Given the description of an element on the screen output the (x, y) to click on. 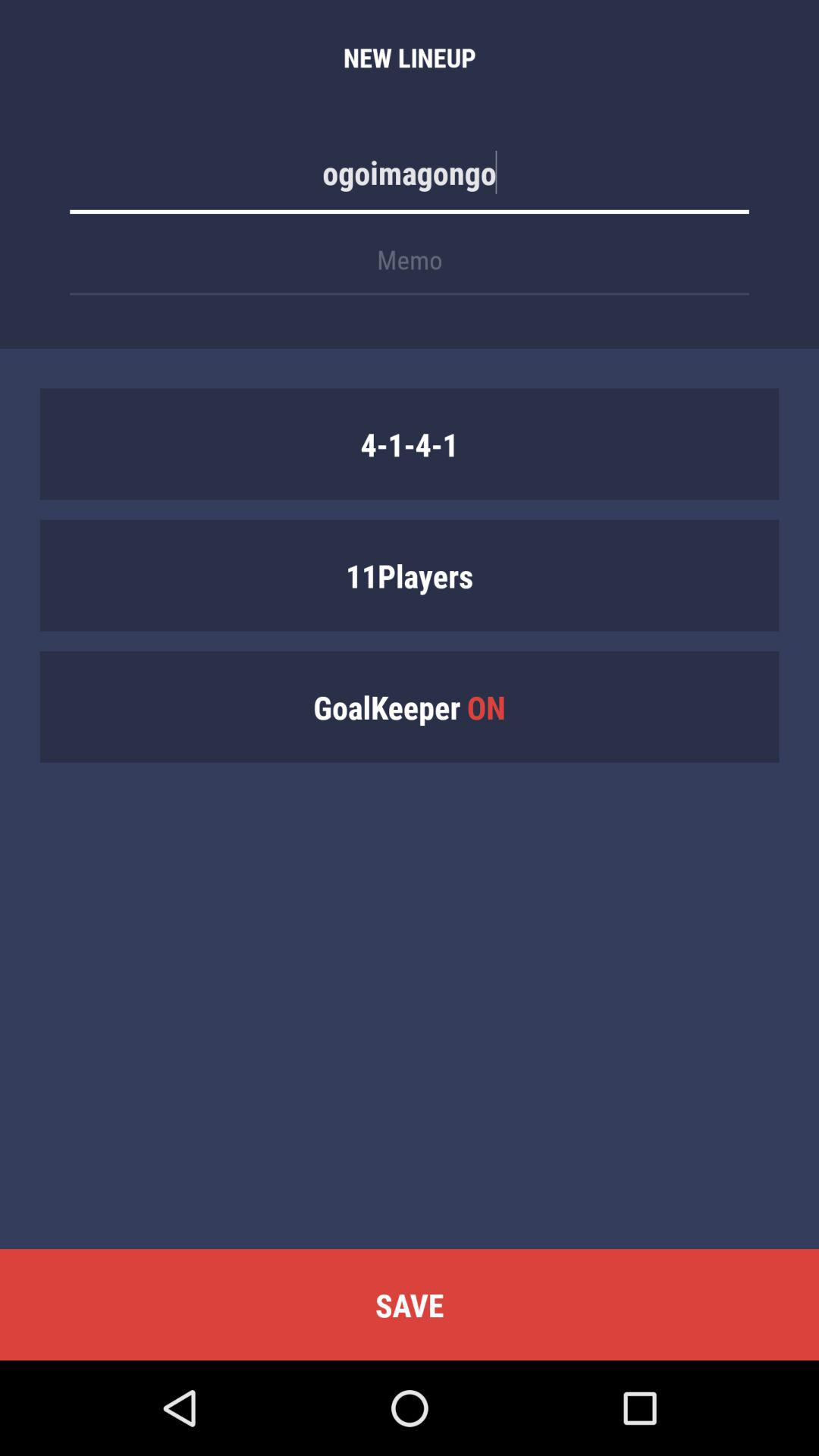
press the save item (409, 1304)
